Given the description of an element on the screen output the (x, y) to click on. 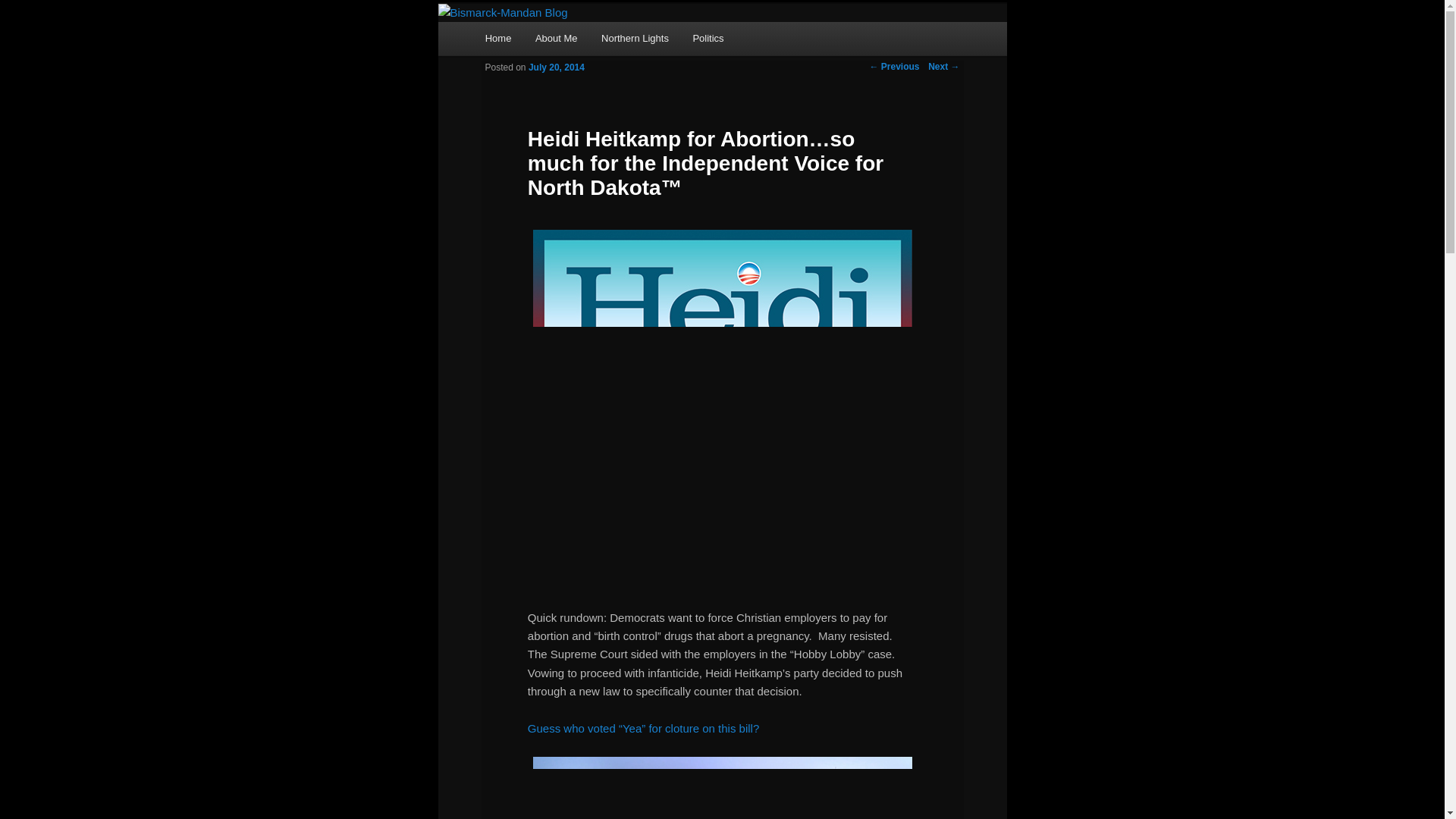
Home (497, 38)
July 20, 2014 (556, 67)
Heidi votes for pro-abortion bill (642, 727)
5:48 am (556, 67)
Bismarck-Mandan Blog (606, 58)
Politics (708, 38)
Skip to primary content (552, 40)
About Me (555, 38)
Northern Lights (634, 38)
